Given the description of an element on the screen output the (x, y) to click on. 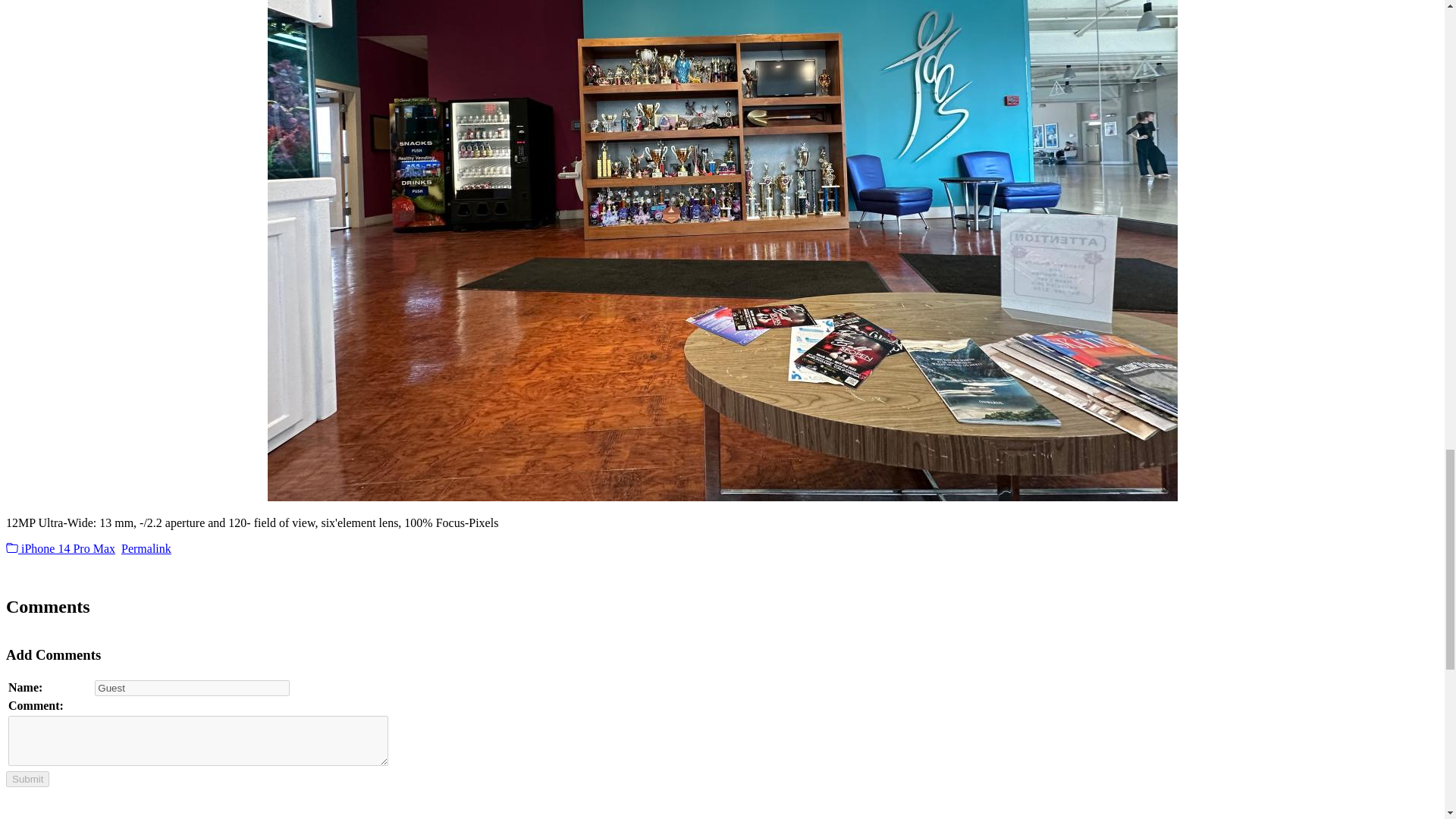
Submit (27, 779)
Permalink (145, 548)
iPhone 14 Pro Max (60, 548)
Submit (27, 779)
Guest (191, 688)
